Given the description of an element on the screen output the (x, y) to click on. 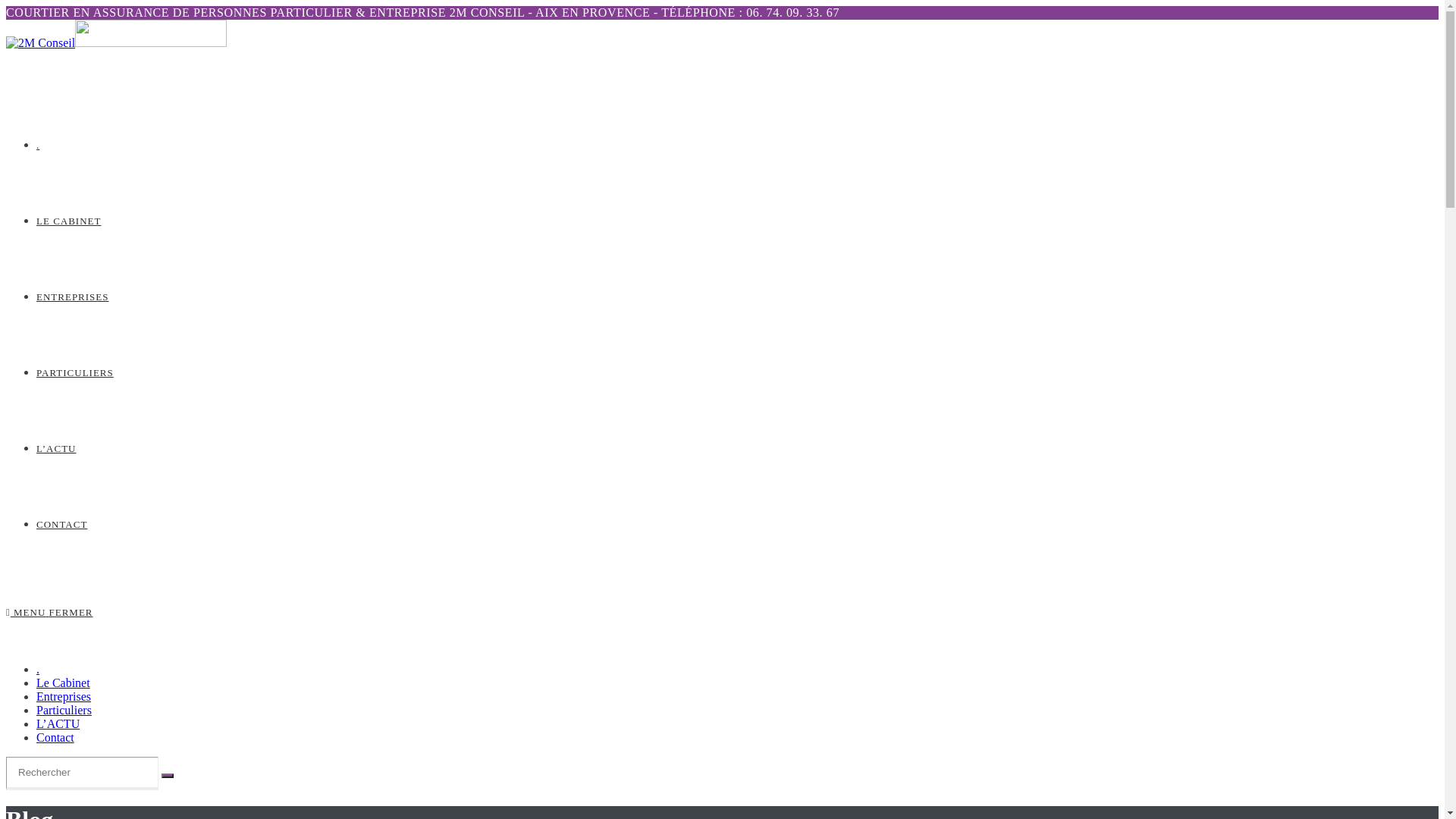
Skip to content Element type: text (5, 5)
Entreprises Element type: text (63, 696)
Le Cabinet Element type: text (63, 682)
ENTREPRISES Element type: text (72, 296)
Contact Element type: text (55, 737)
. Element type: text (37, 668)
LE CABINET Element type: text (68, 220)
CONTACT Element type: text (61, 524)
. Element type: text (37, 144)
PARTICULIERS Element type: text (74, 372)
MENU FERMER Element type: text (49, 612)
Particuliers Element type: text (63, 709)
